Given the description of an element on the screen output the (x, y) to click on. 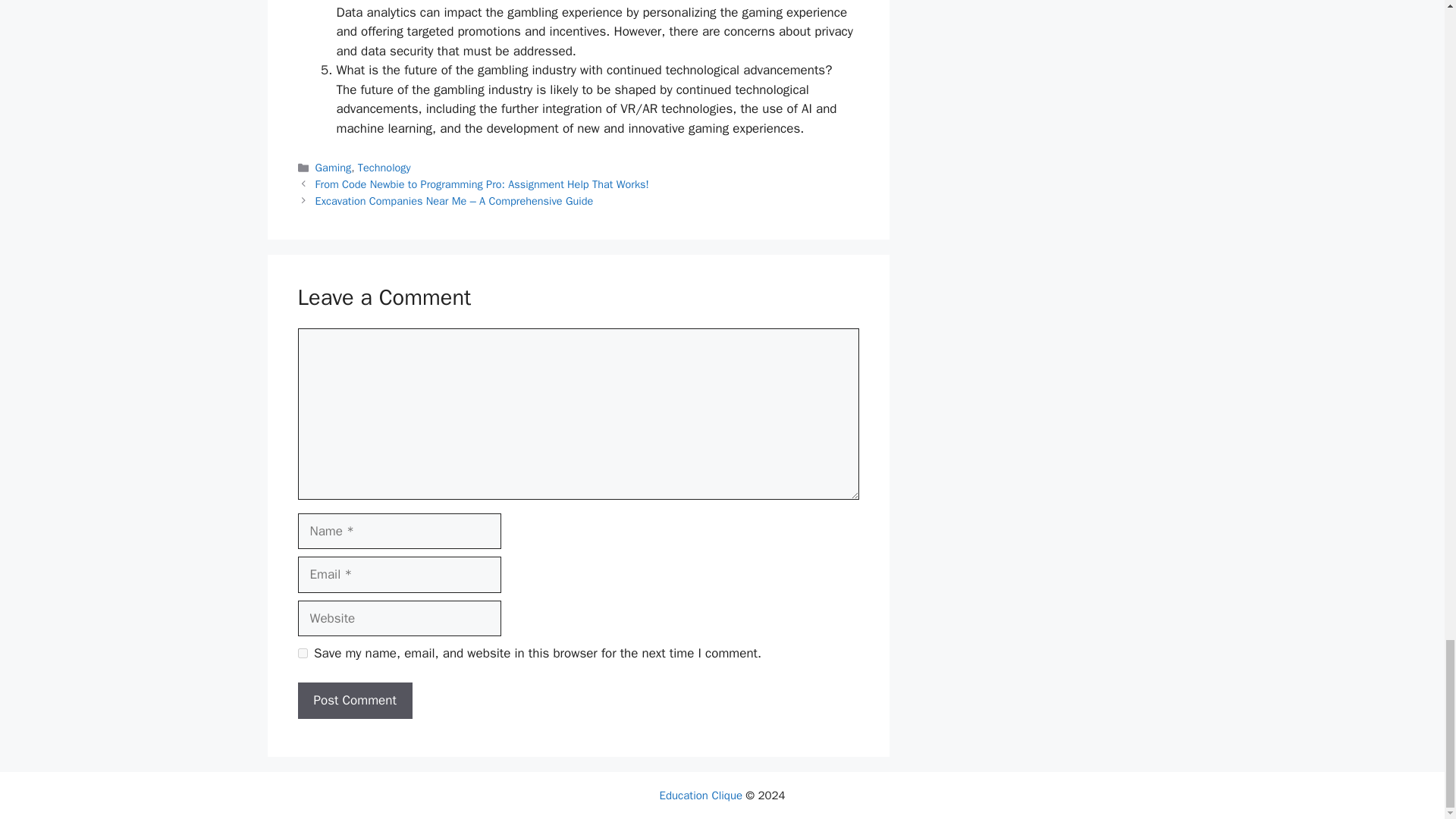
Post Comment (354, 700)
yes (302, 653)
